Given the description of an element on the screen output the (x, y) to click on. 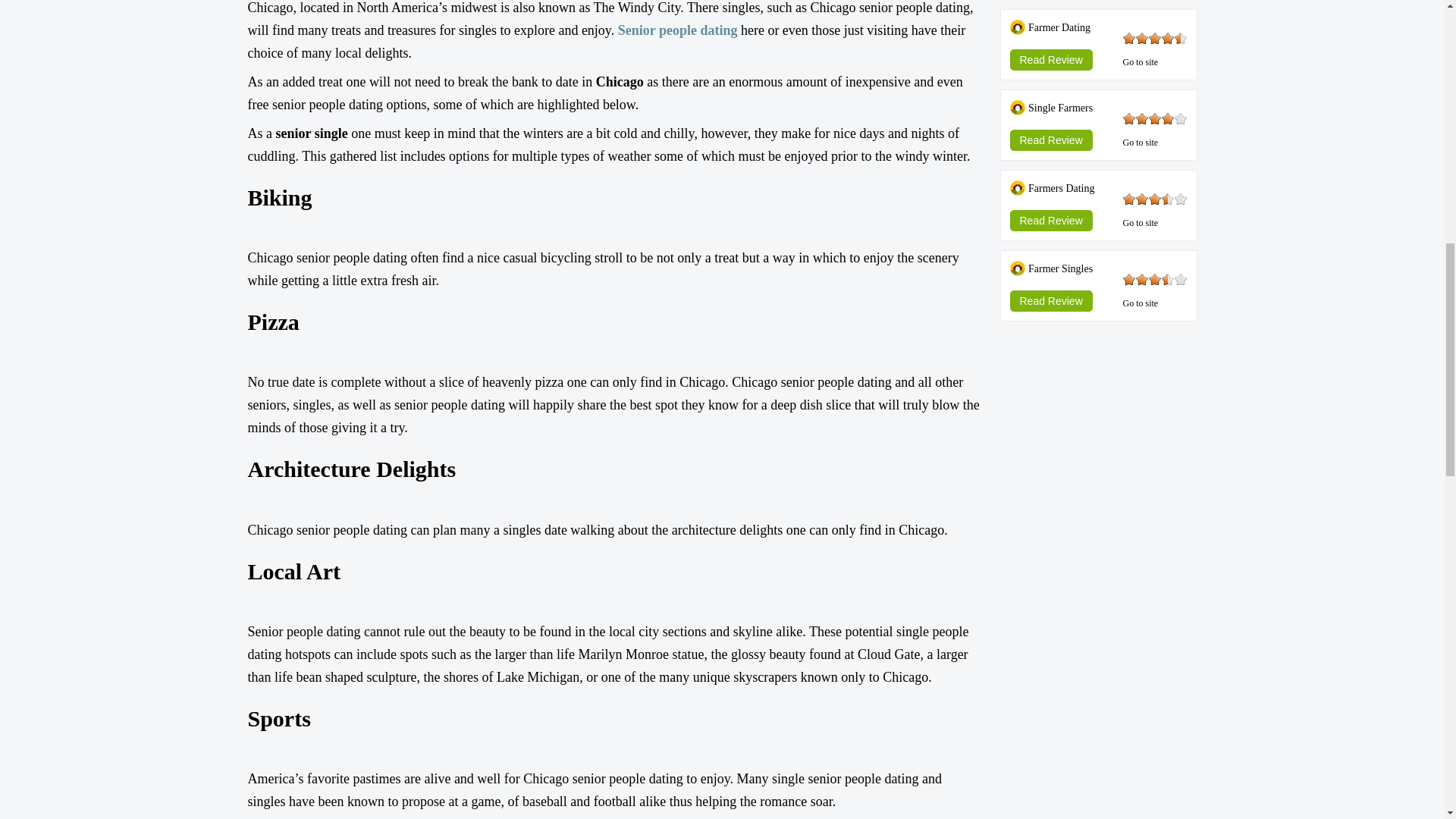
Read Review (1051, 54)
Read Review (1051, 134)
Read Review (1051, 295)
Go to site (1139, 61)
Go to site (1139, 142)
Read Review (1051, 215)
Go to site (1139, 222)
Senior people dating (677, 29)
Go to site (1139, 303)
